Given the description of an element on the screen output the (x, y) to click on. 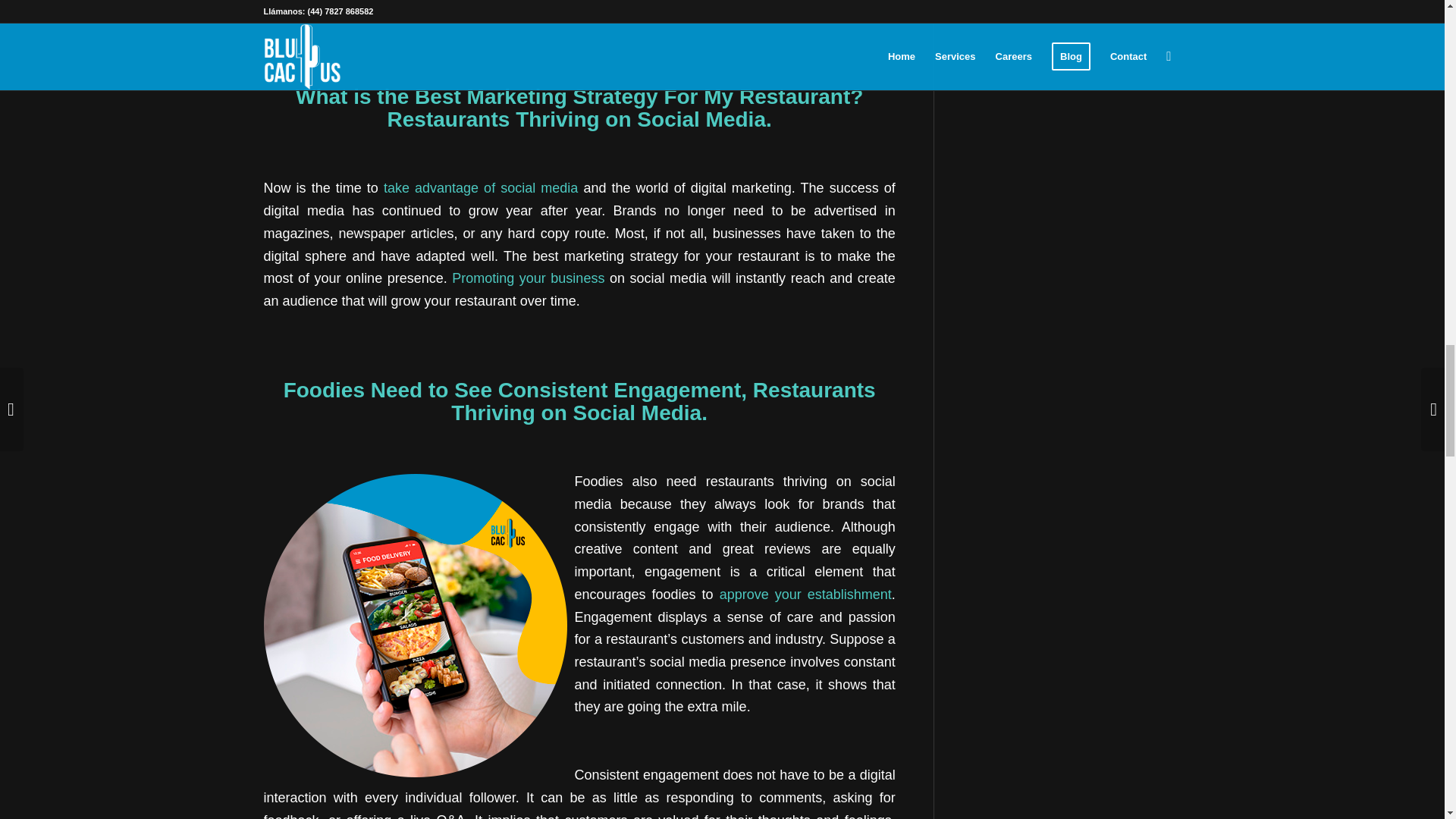
How Social Media Outreach Can Benefit Restaurants (481, 187)
Promoting your business (527, 278)
4 Marketing Strategies to Attract UK Consumers Effectively (527, 278)
approve your establishment (805, 594)
The establishment uncovered: how power works in Britain (805, 594)
take advantage of social media (481, 187)
